Given the description of an element on the screen output the (x, y) to click on. 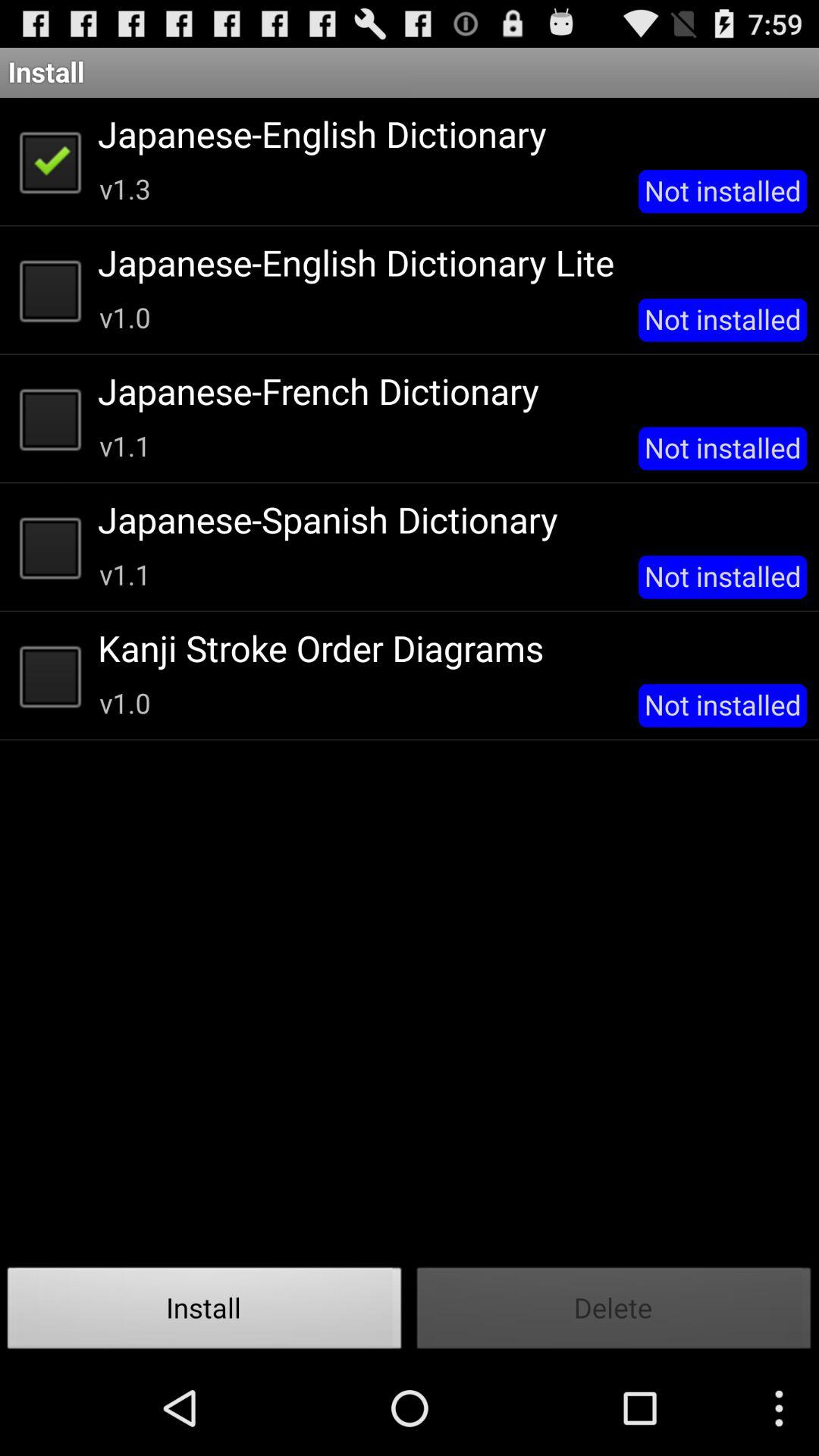
open the item below not installed icon (614, 1312)
